Given the description of an element on the screen output the (x, y) to click on. 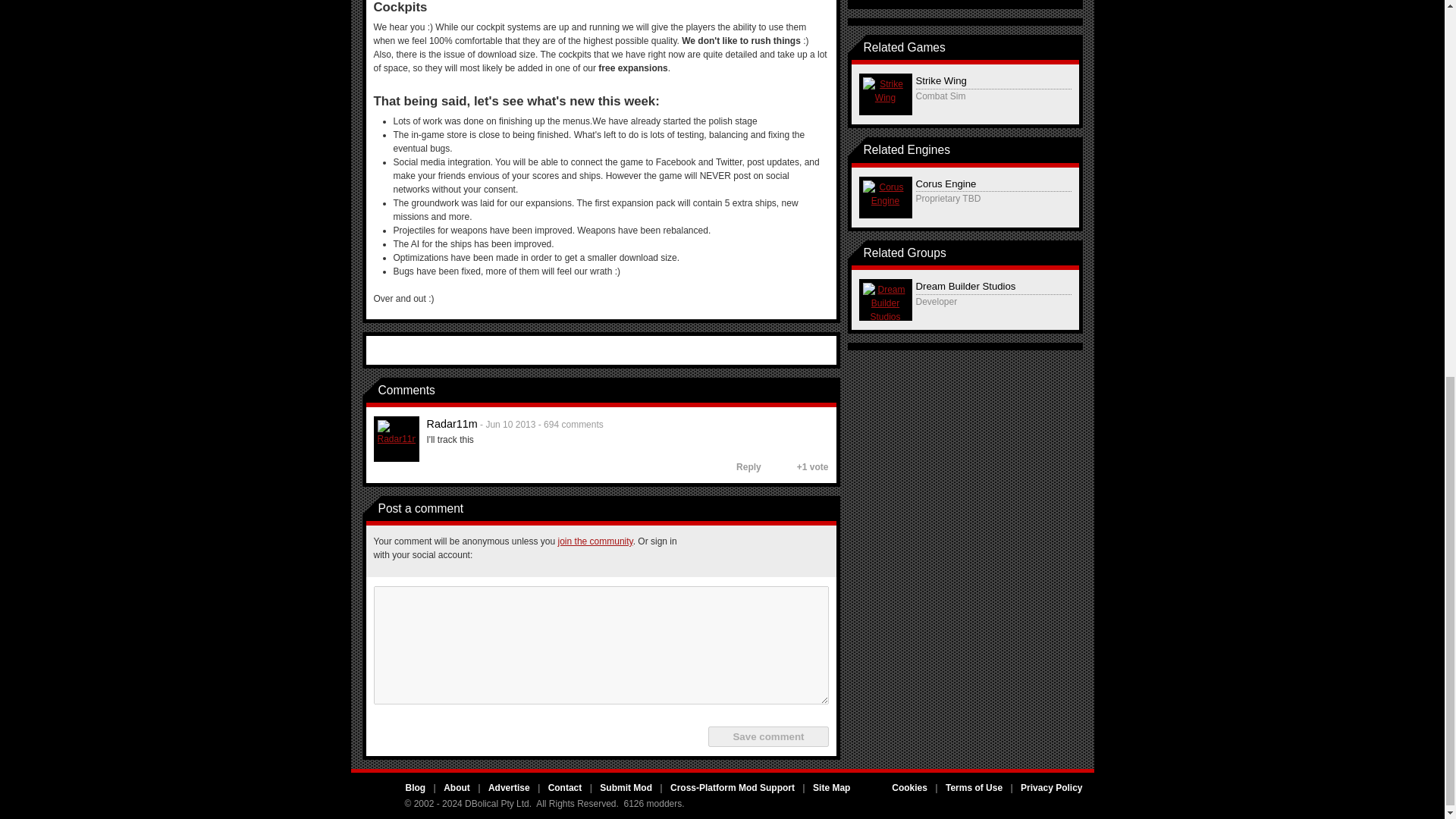
Post comment (828, 390)
Save comment (767, 736)
Radar11m (395, 438)
Reply (741, 467)
